Given the description of an element on the screen output the (x, y) to click on. 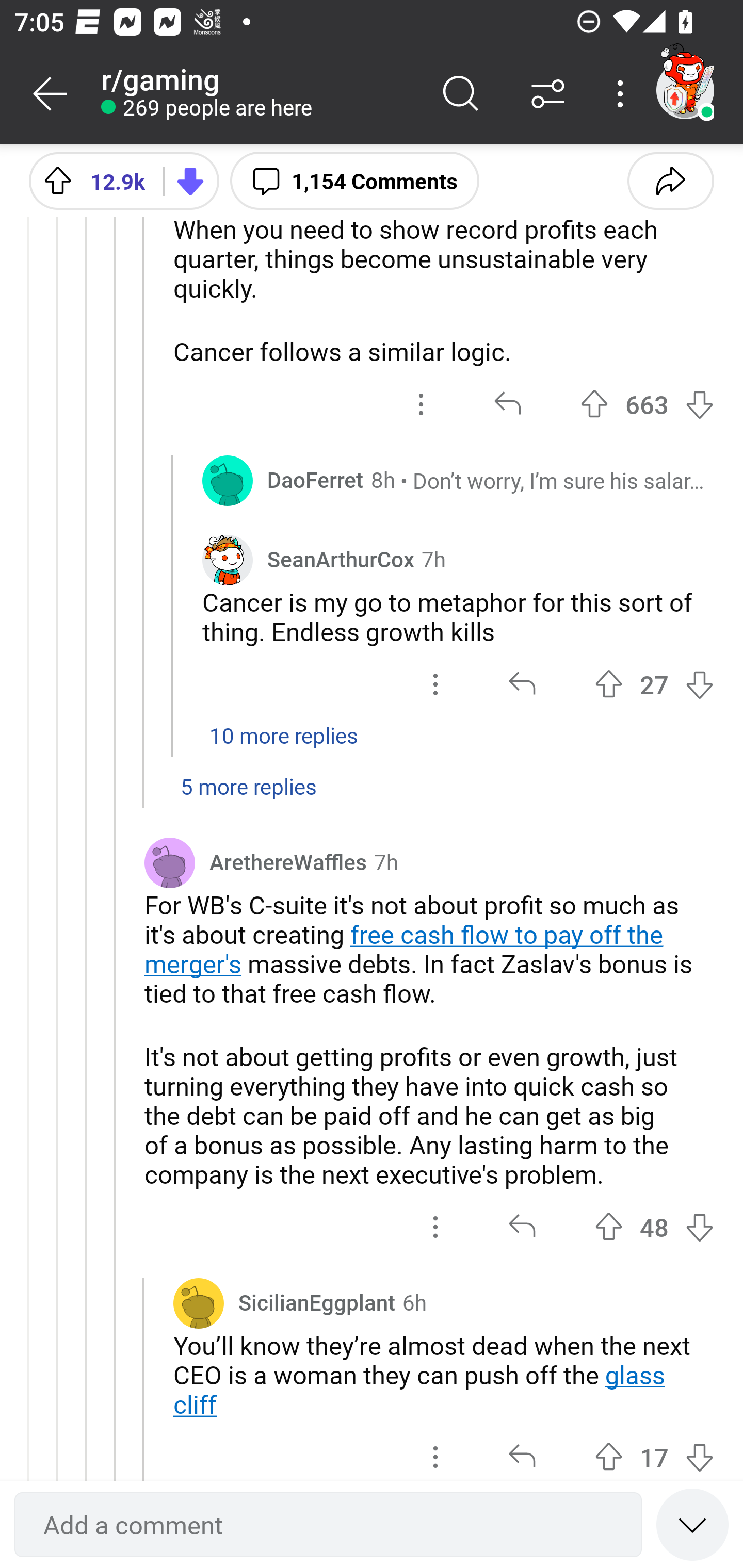
Back (50, 93)
TestAppium002 account (685, 90)
Search comments (460, 93)
Sort comments (547, 93)
More options (623, 93)
r/gaming 269 people are here (259, 93)
Upvote 12.9k (88, 180)
1,154 Comments (354, 180)
Share (670, 180)
options (420, 404)
Upvote 663 663 votes Downvote (647, 404)
Avatar (227, 479)
Custom avatar (227, 559)
options (435, 684)
Upvote 27 27 votes Downvote (654, 684)
10 more replies (371, 746)
5 more replies (371, 797)
Avatar (169, 862)
options (435, 1227)
Upvote 48 48 votes Downvote (654, 1227)
Avatar (198, 1302)
options (435, 1450)
Upvote 17 17 votes Downvote (654, 1450)
Speed read (692, 1524)
Add a comment (327, 1524)
